Given the description of an element on the screen output the (x, y) to click on. 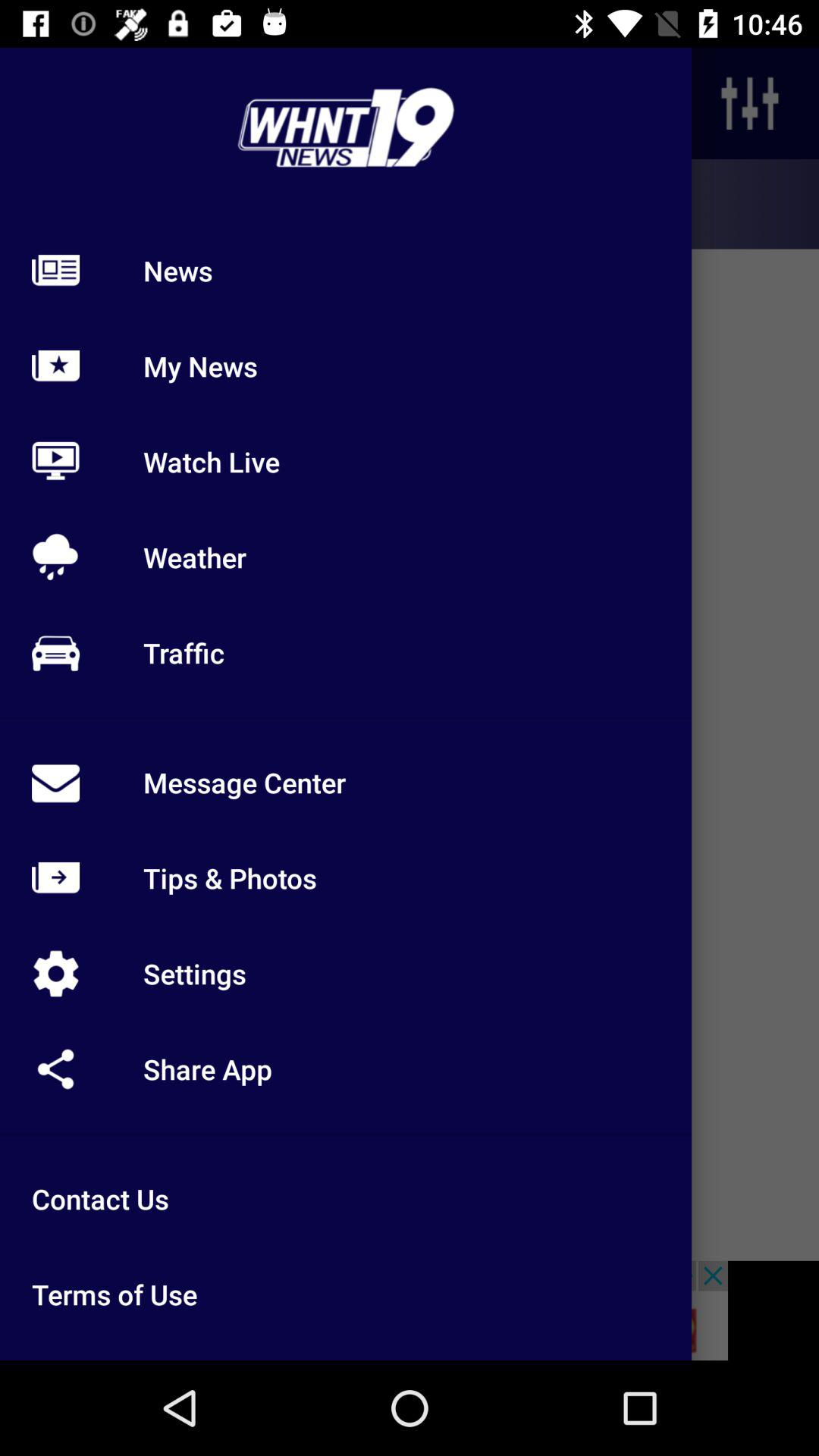
click on the right top button (749, 103)
